Given the description of an element on the screen output the (x, y) to click on. 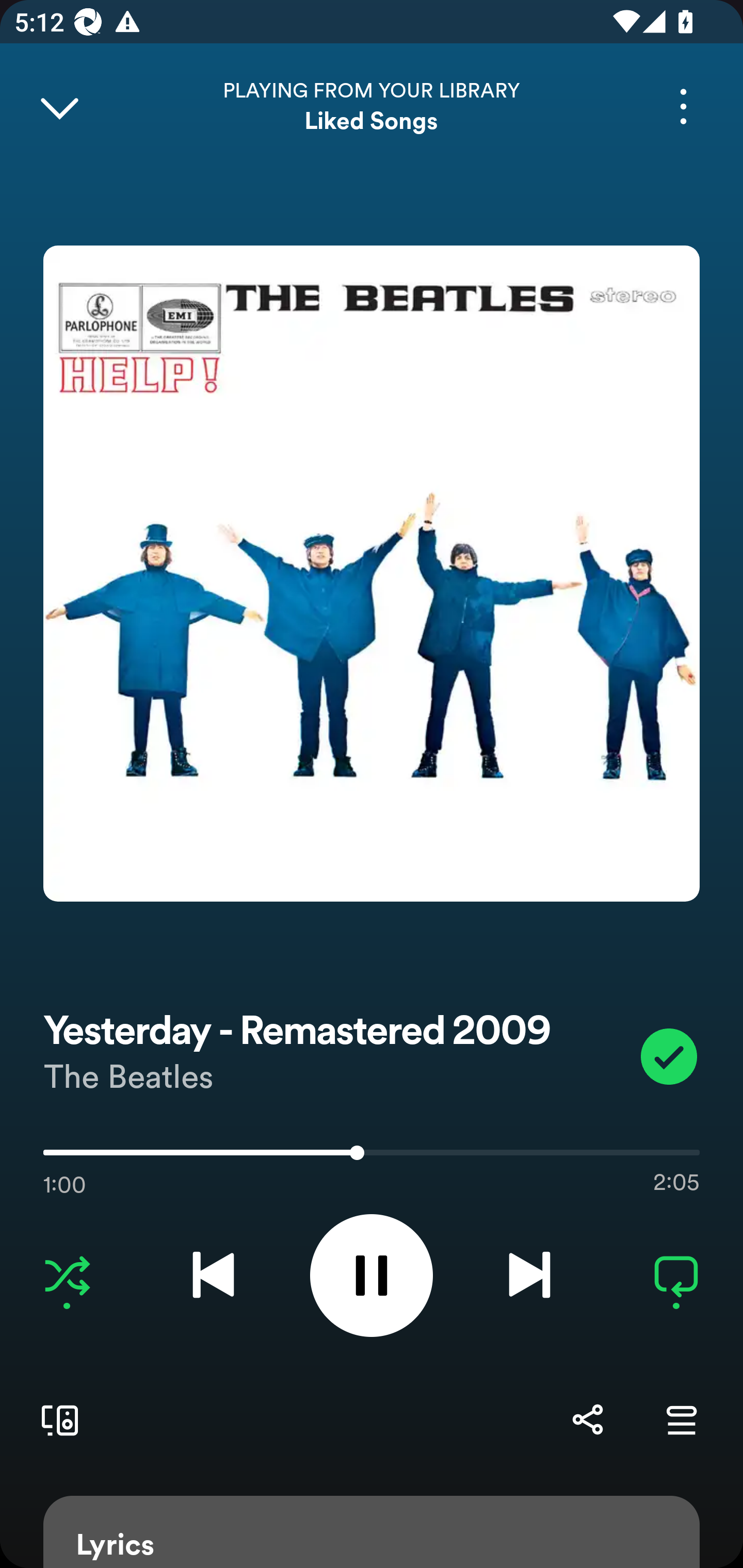
Close (59, 106)
More options for song Yesterday - Remastered 2009 (683, 106)
PLAYING FROM YOUR LIBRARY Liked Songs (371, 106)
Item added (669, 1056)
0:59 2:05 59978.0 Use volume keys to adjust (371, 1157)
Pause (371, 1275)
Previous (212, 1275)
Next (529, 1275)
Stop shuffling tracks (66, 1275)
Repeat (676, 1275)
Share (587, 1419)
Go to Queue (681, 1419)
Connect to a device. Opens the devices menu (55, 1419)
Lyrics (371, 1531)
